Given the description of an element on the screen output the (x, y) to click on. 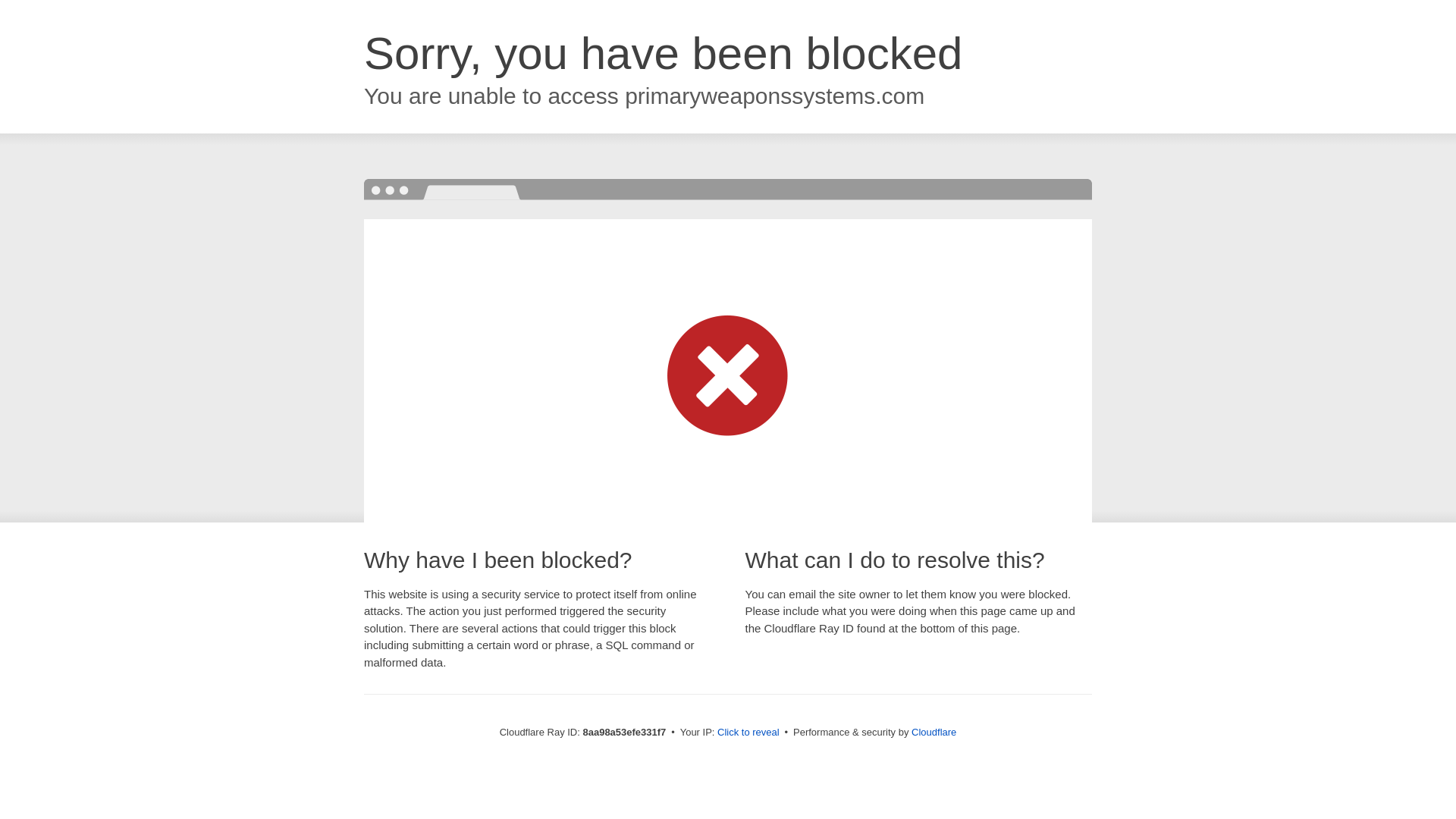
Click to reveal (747, 732)
Cloudflare (933, 731)
